Given the description of an element on the screen output the (x, y) to click on. 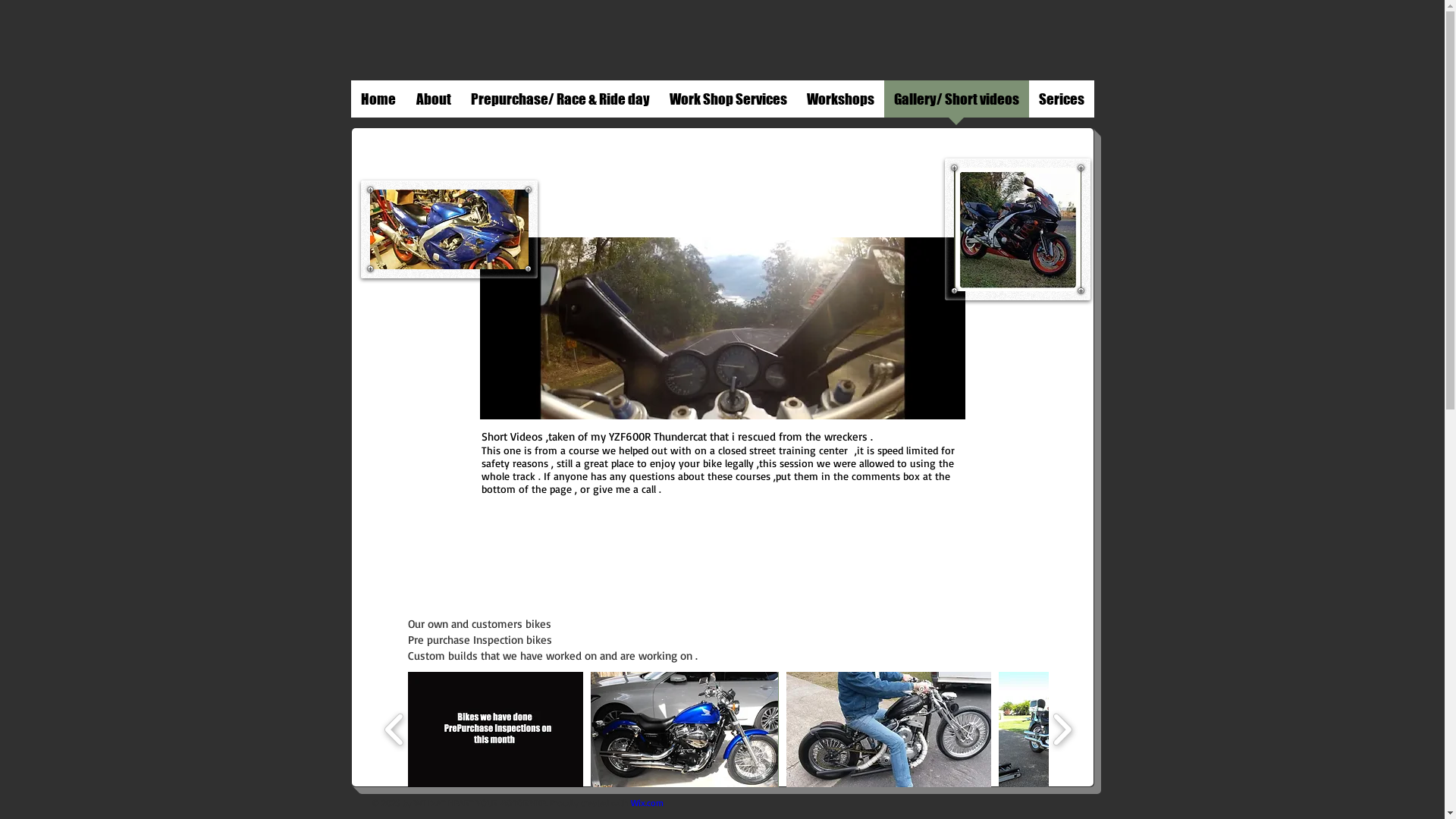
Work Shop Services Element type: text (728, 103)
Wix.com Element type: text (646, 802)
Gallery/ Short videos Element type: text (956, 103)
Home Element type: text (377, 103)
Workshops Element type: text (839, 103)
About Element type: text (433, 103)
Prepurchase/ Race & Ride day Element type: text (560, 103)
